Given the description of an element on the screen output the (x, y) to click on. 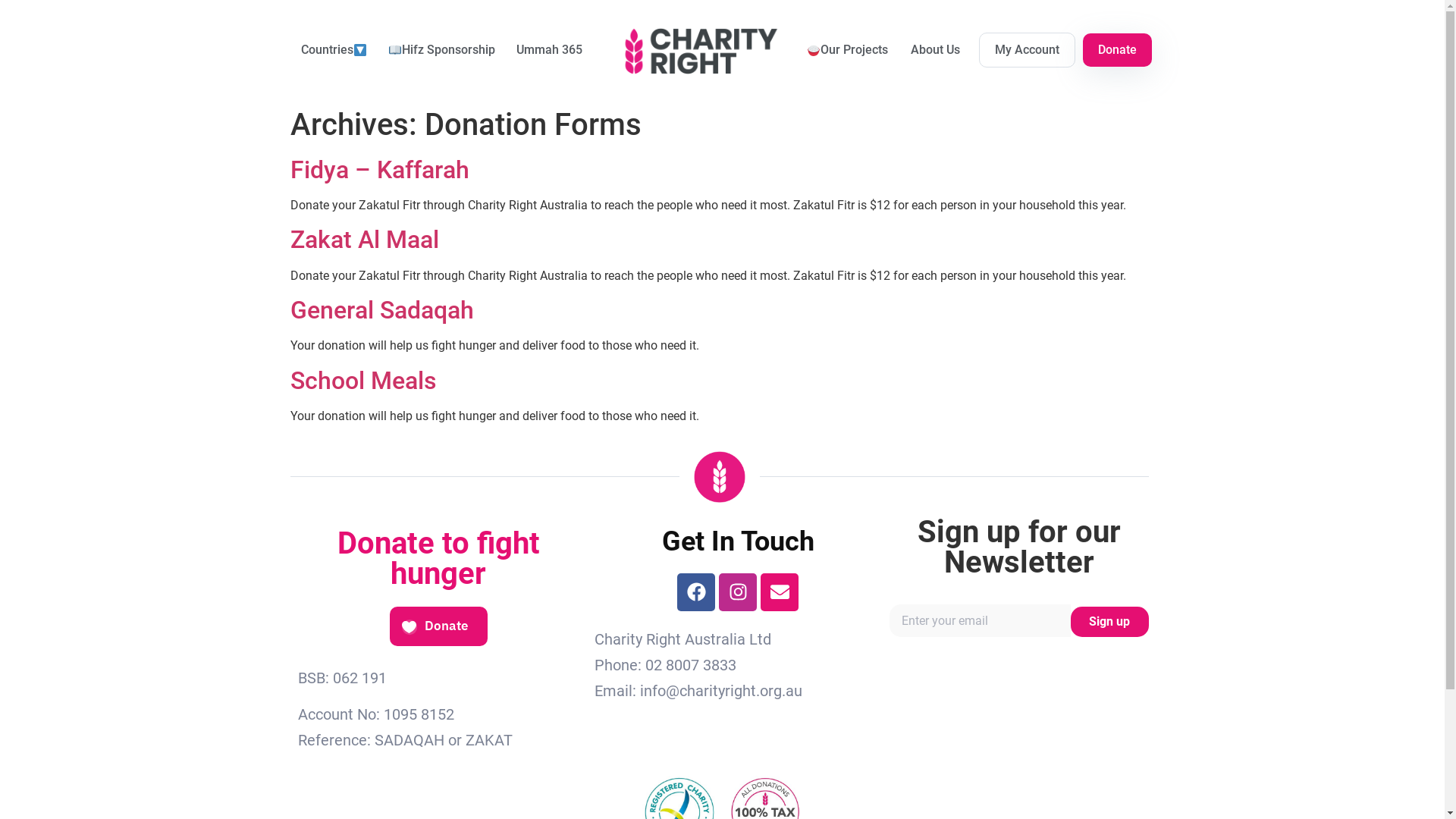
About Us Element type: text (935, 49)
Donate Element type: text (1116, 49)
School Meals Element type: text (362, 380)
My Account Element type: text (1027, 49)
Countries Element type: text (332, 49)
Ummah 365 Element type: text (549, 49)
General Sadaqah Element type: text (381, 309)
Zakat Al Maal Element type: text (363, 239)
Hifz Sponsorship Element type: text (441, 49)
Donate Button Element type: hover (438, 626)
Sign up Element type: text (1109, 621)
Our Projects Element type: text (846, 49)
